Given the description of an element on the screen output the (x, y) to click on. 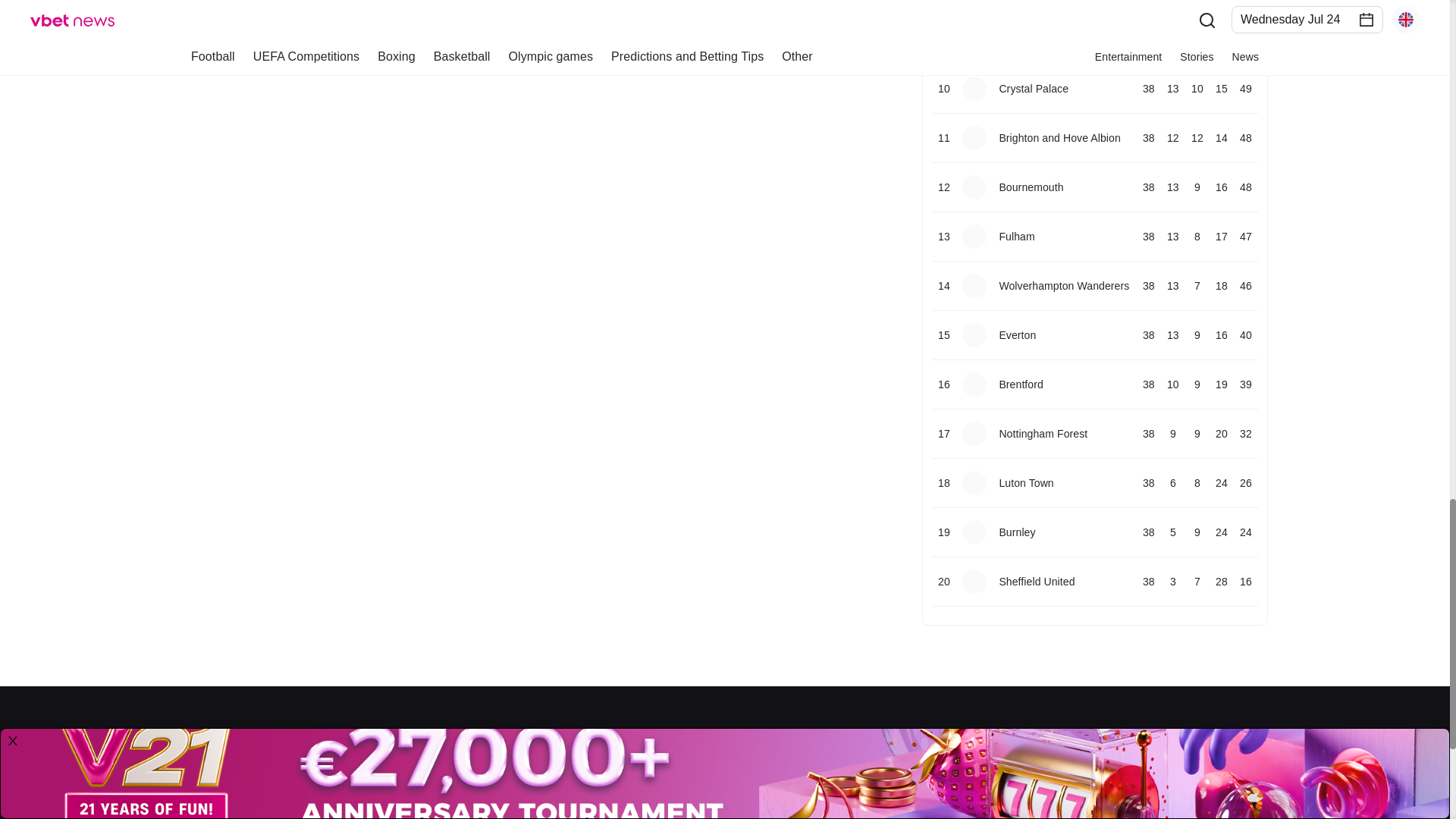
About us (797, 778)
vbet news (211, 779)
Privacy Policy (813, 808)
